Given the description of an element on the screen output the (x, y) to click on. 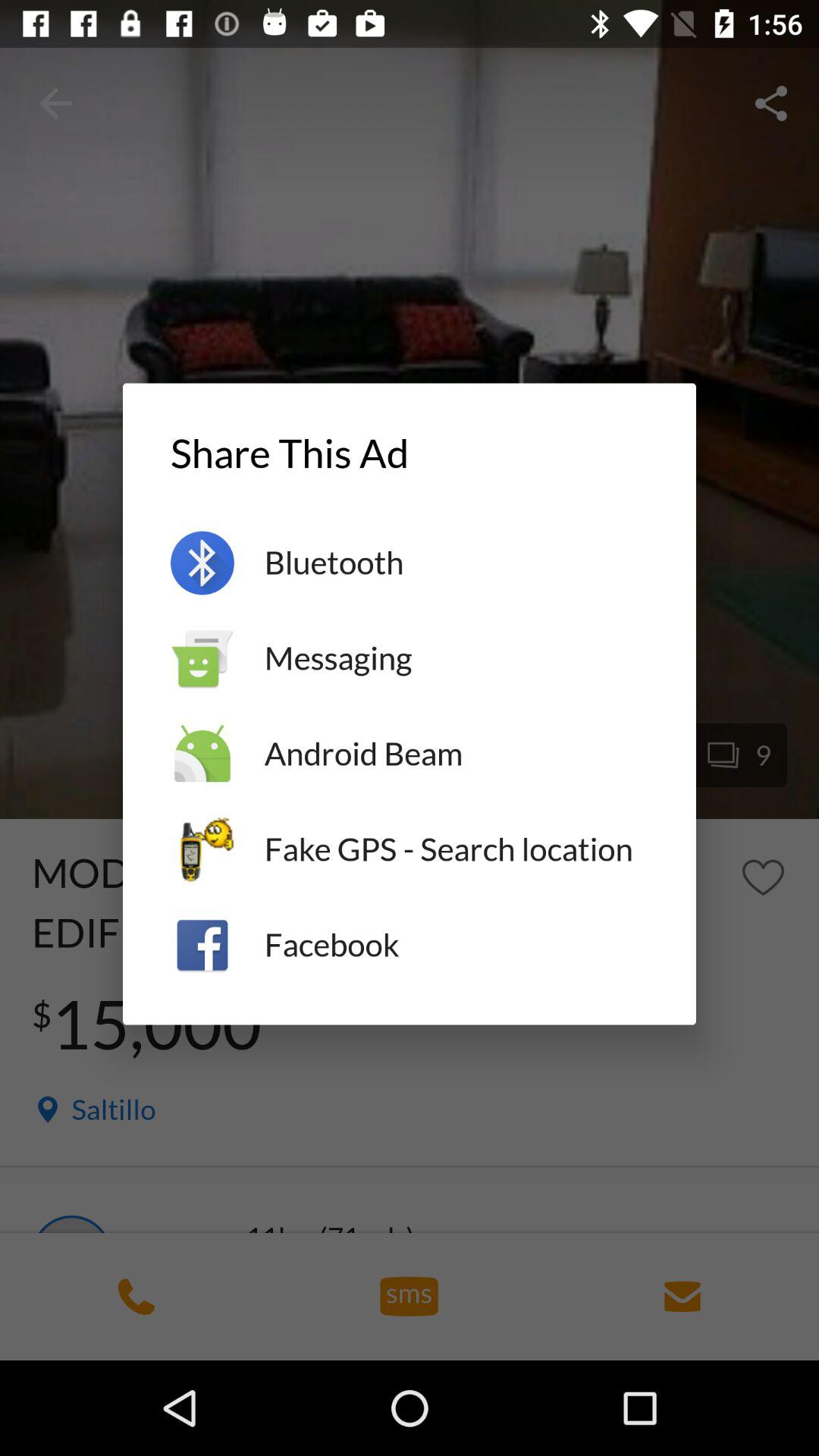
launch bluetooth icon (456, 562)
